Given the description of an element on the screen output the (x, y) to click on. 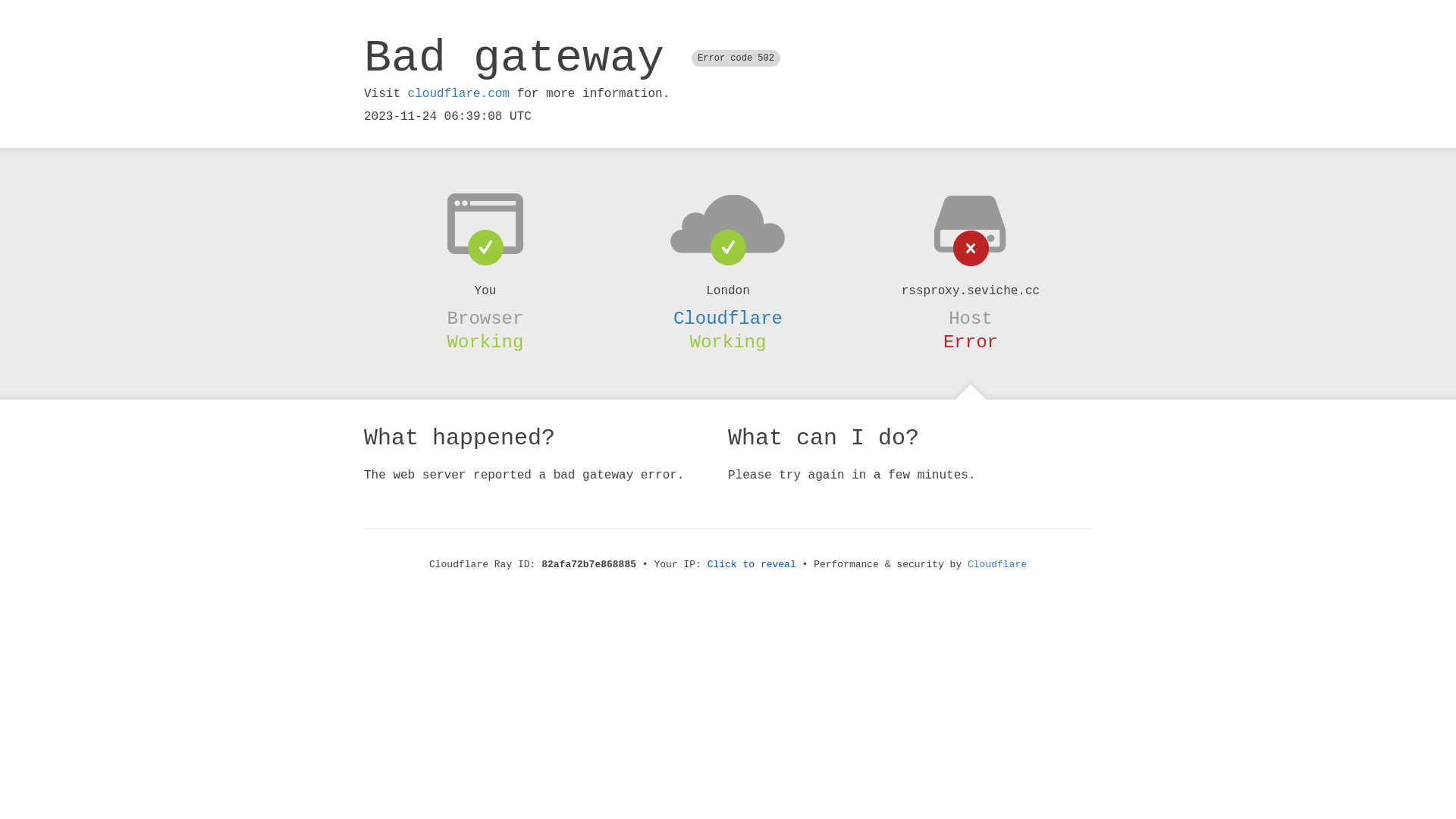
Click to reveal Element type: text (751, 564)
Cloudflare Element type: text (727, 318)
Cloudflare Element type: text (996, 564)
cloudflare.com Element type: text (458, 93)
